Given the description of an element on the screen output the (x, y) to click on. 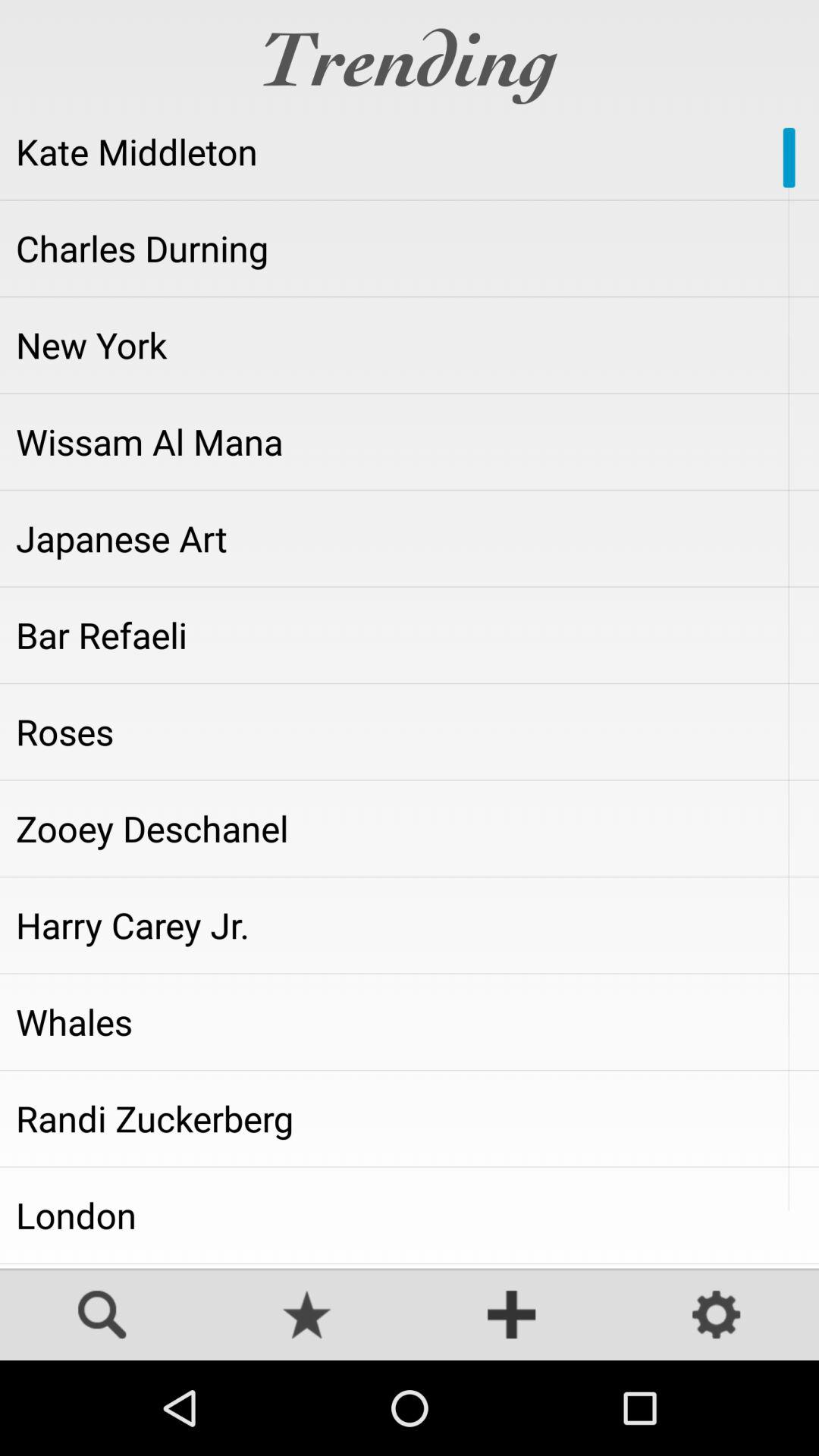
tap the kate middleton icon (409, 151)
